Given the description of an element on the screen output the (x, y) to click on. 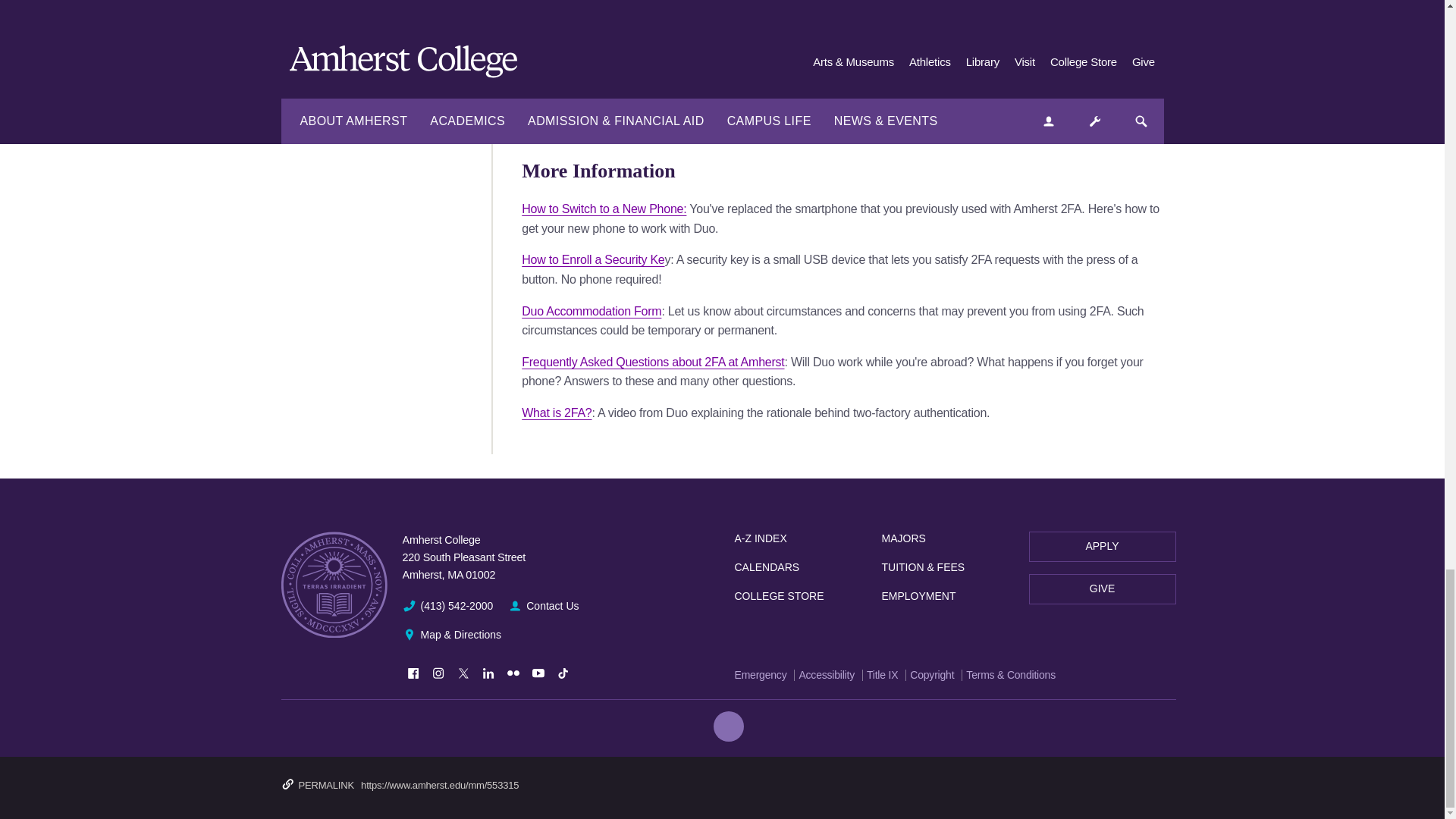
External Video (558, 23)
